Given the description of an element on the screen output the (x, y) to click on. 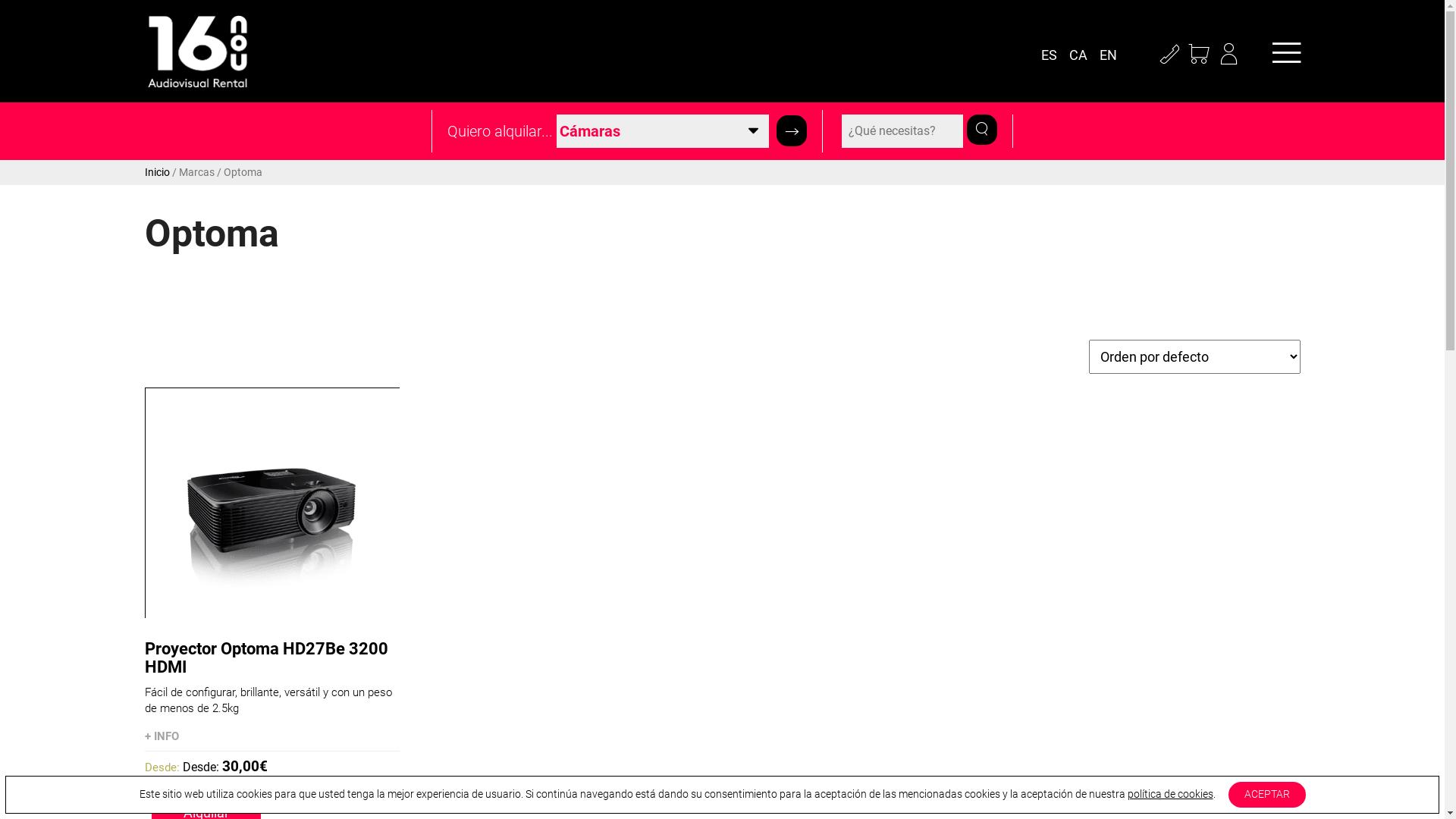
CA Element type: text (1082, 54)
Inicio Element type: text (156, 172)
ACEPTAR Element type: text (1266, 794)
Mi cuenta Element type: hover (1227, 55)
ES Element type: text (1051, 54)
Buscar Element type: hover (981, 127)
Ir al carrito Element type: hover (1199, 55)
Buscar Element type: hover (791, 130)
EN Element type: text (1111, 54)
